Given the description of an element on the screen output the (x, y) to click on. 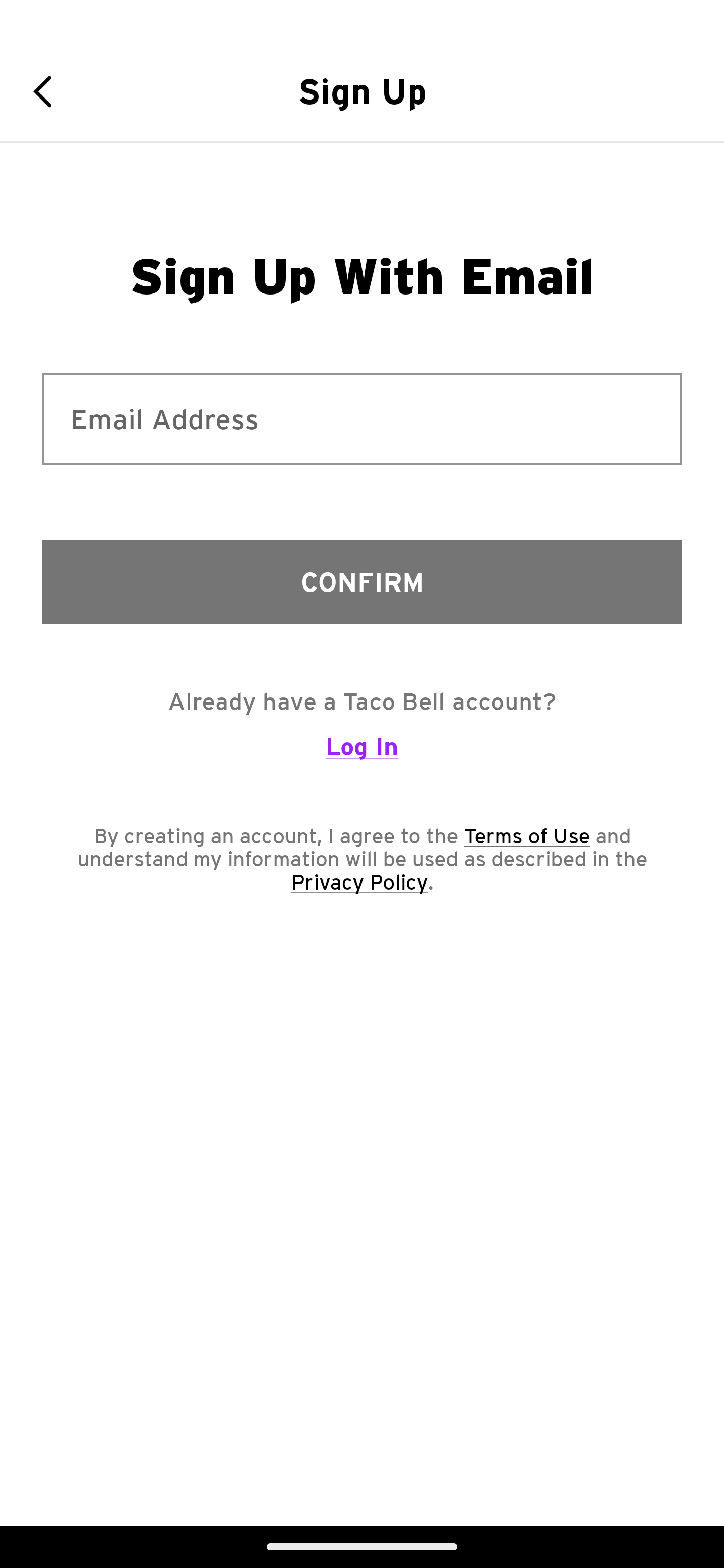
Navigate up (49, 91)
Email Address (361, 419)
CONFIRM (361, 581)
Log In (361, 754)
